Given the description of an element on the screen output the (x, y) to click on. 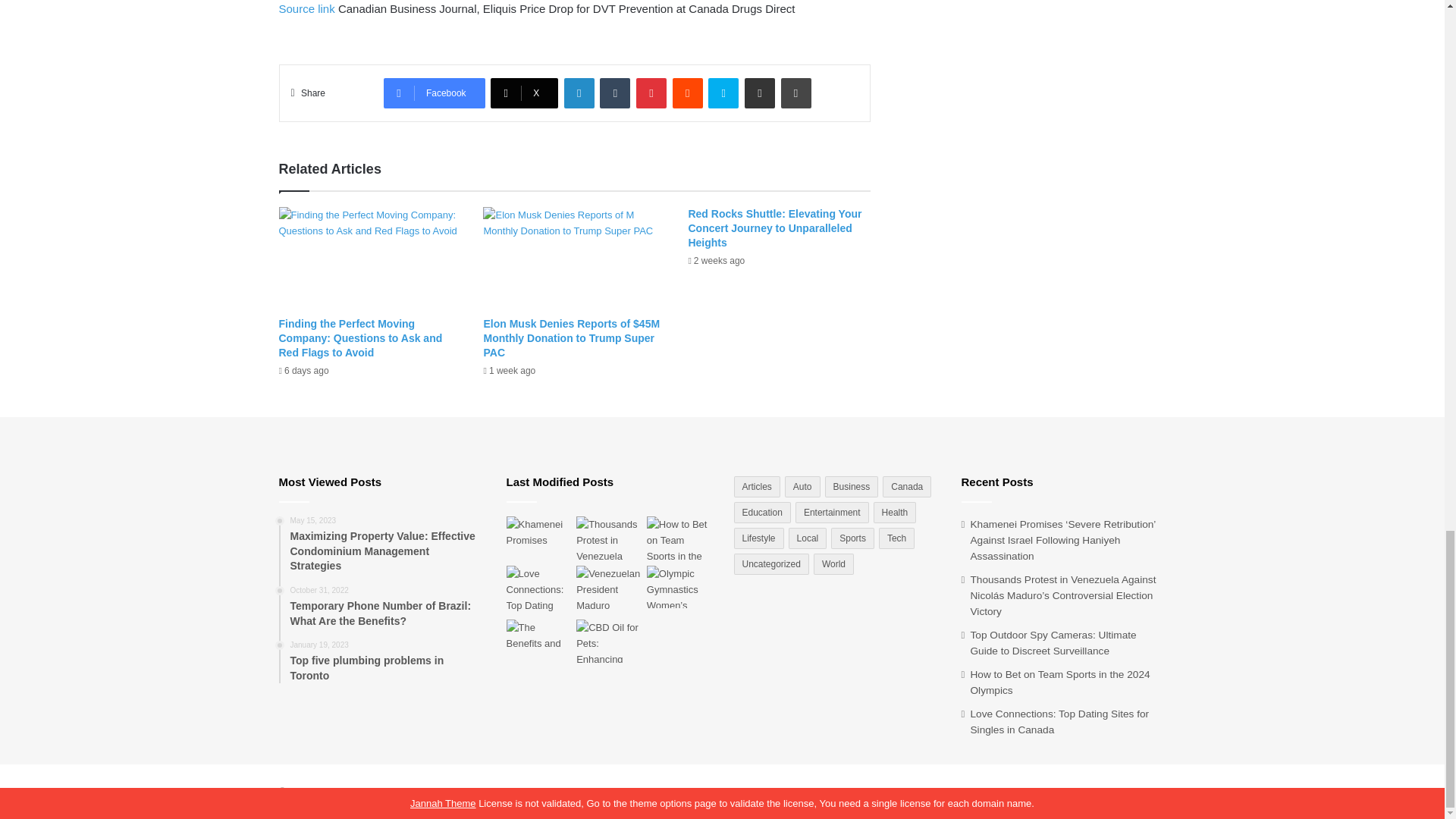
X (523, 92)
Source link (308, 8)
Skype (722, 92)
Skype (722, 92)
Reddit (687, 92)
Facebook (434, 92)
Pinterest (651, 92)
LinkedIn (579, 92)
Pinterest (651, 92)
Reddit (687, 92)
Tumblr (614, 92)
Tumblr (614, 92)
LinkedIn (579, 92)
X (523, 92)
Facebook (434, 92)
